Given the description of an element on the screen output the (x, y) to click on. 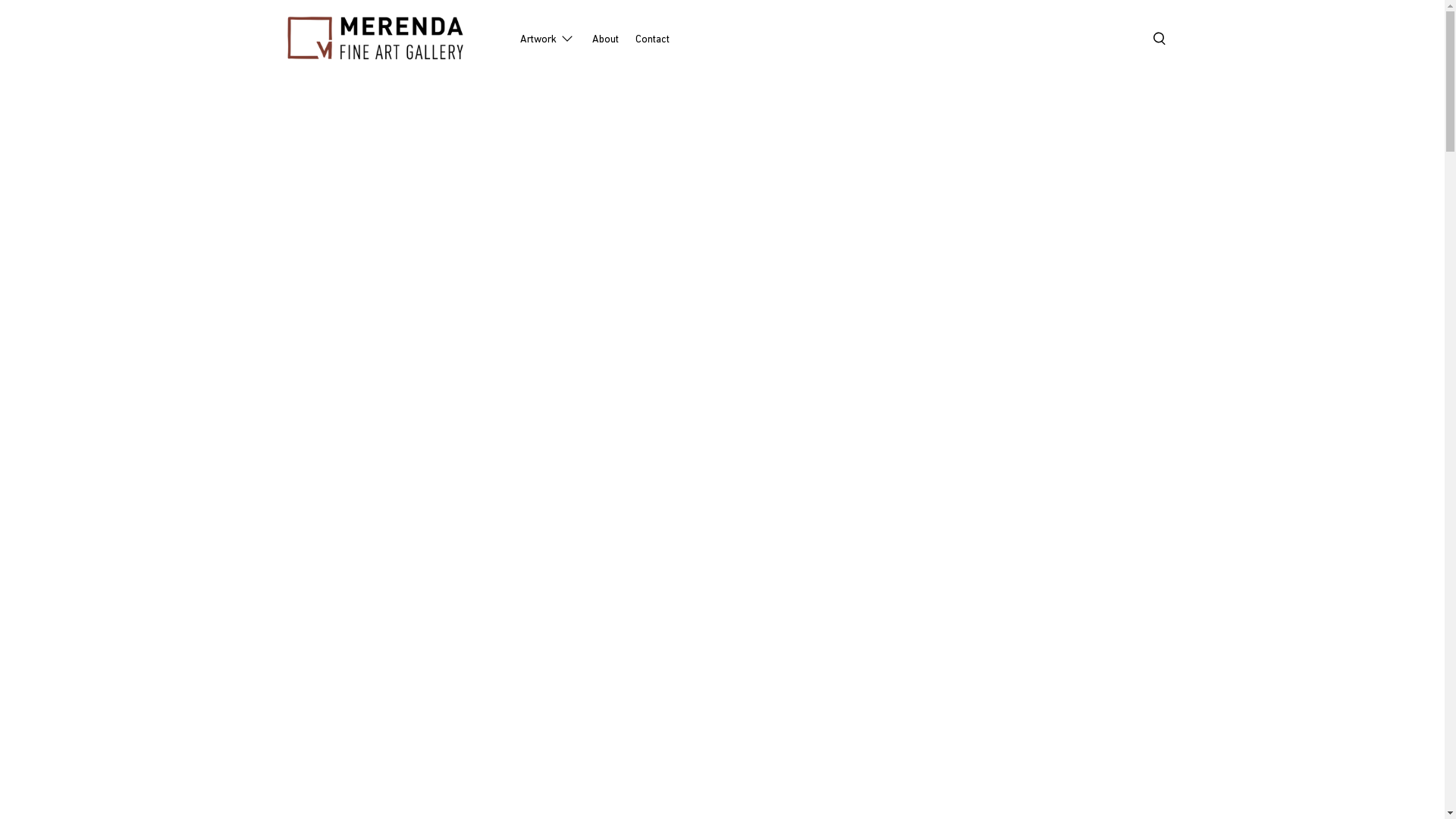
Contact Element type: text (652, 38)
Merenda Gallery Perth Element type: hover (393, 38)
About Element type: text (605, 38)
Artwork Element type: text (547, 38)
